Given the description of an element on the screen output the (x, y) to click on. 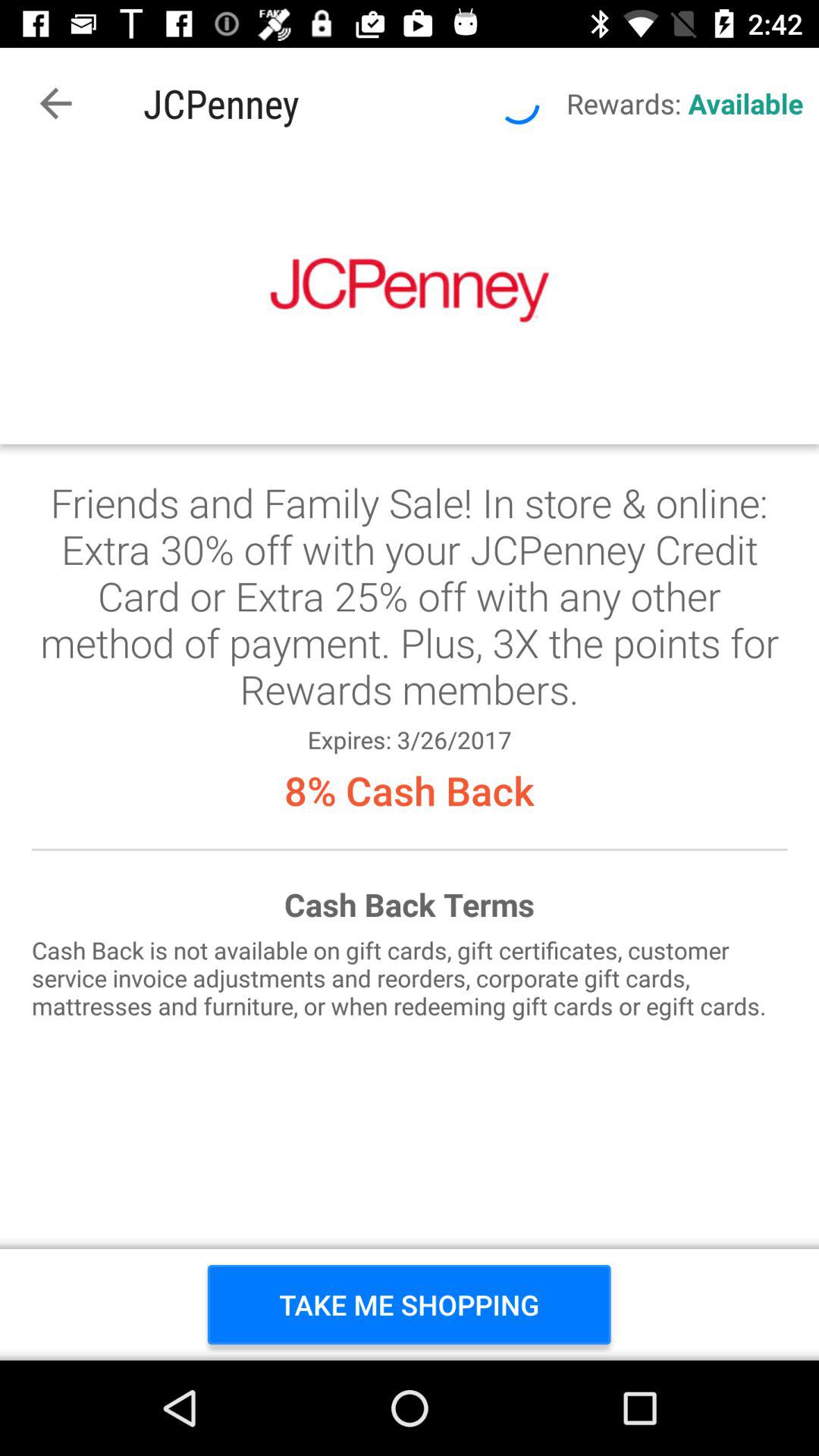
click the item to the left of jcpenney item (55, 103)
